Given the description of an element on the screen output the (x, y) to click on. 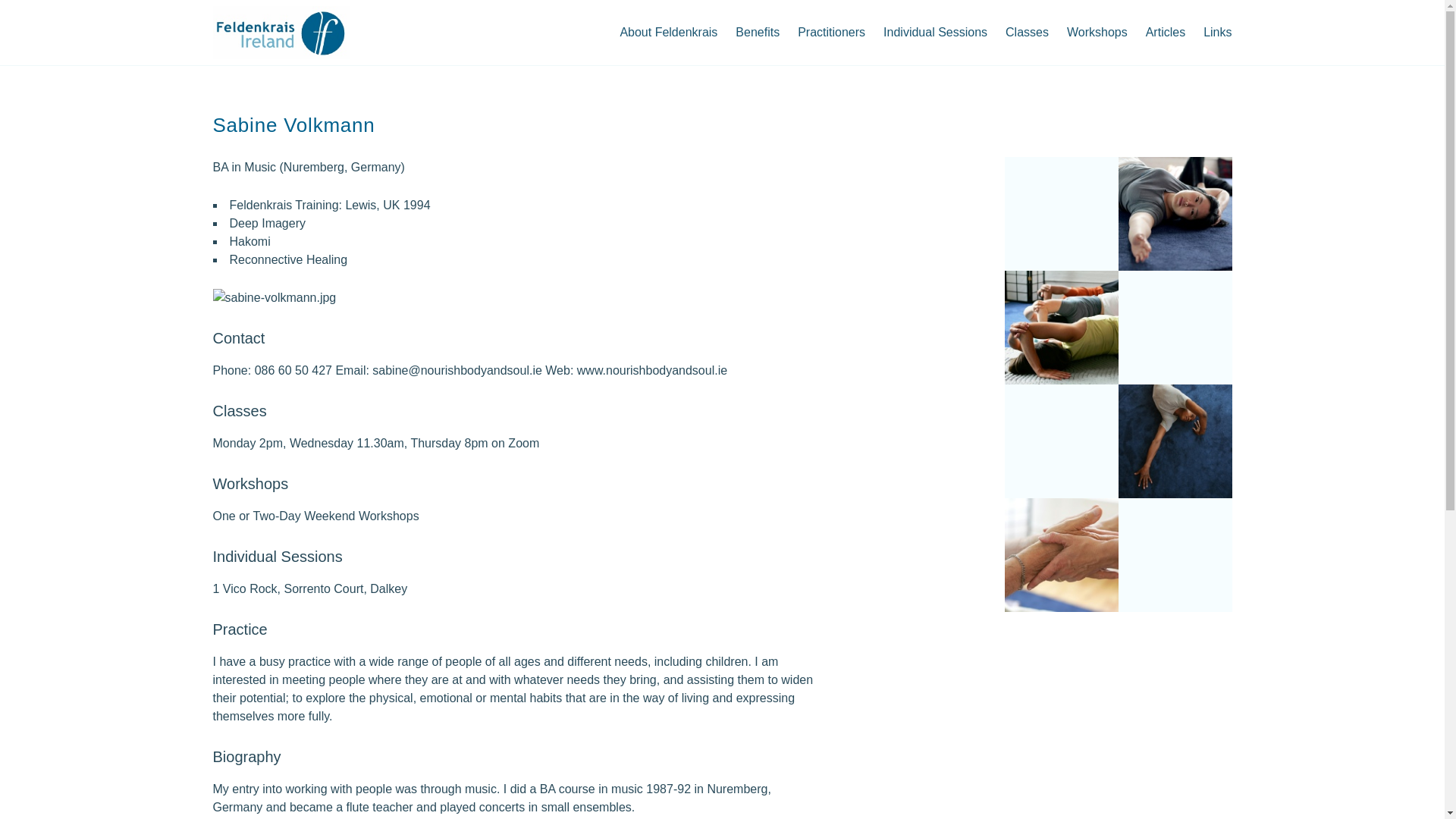
Links (1217, 32)
Classes (1026, 32)
About Feldenkrais (668, 32)
Individual Sessions (935, 32)
Workshops (1096, 32)
Benefits (757, 32)
Practitioners (832, 32)
